Given the description of an element on the screen output the (x, y) to click on. 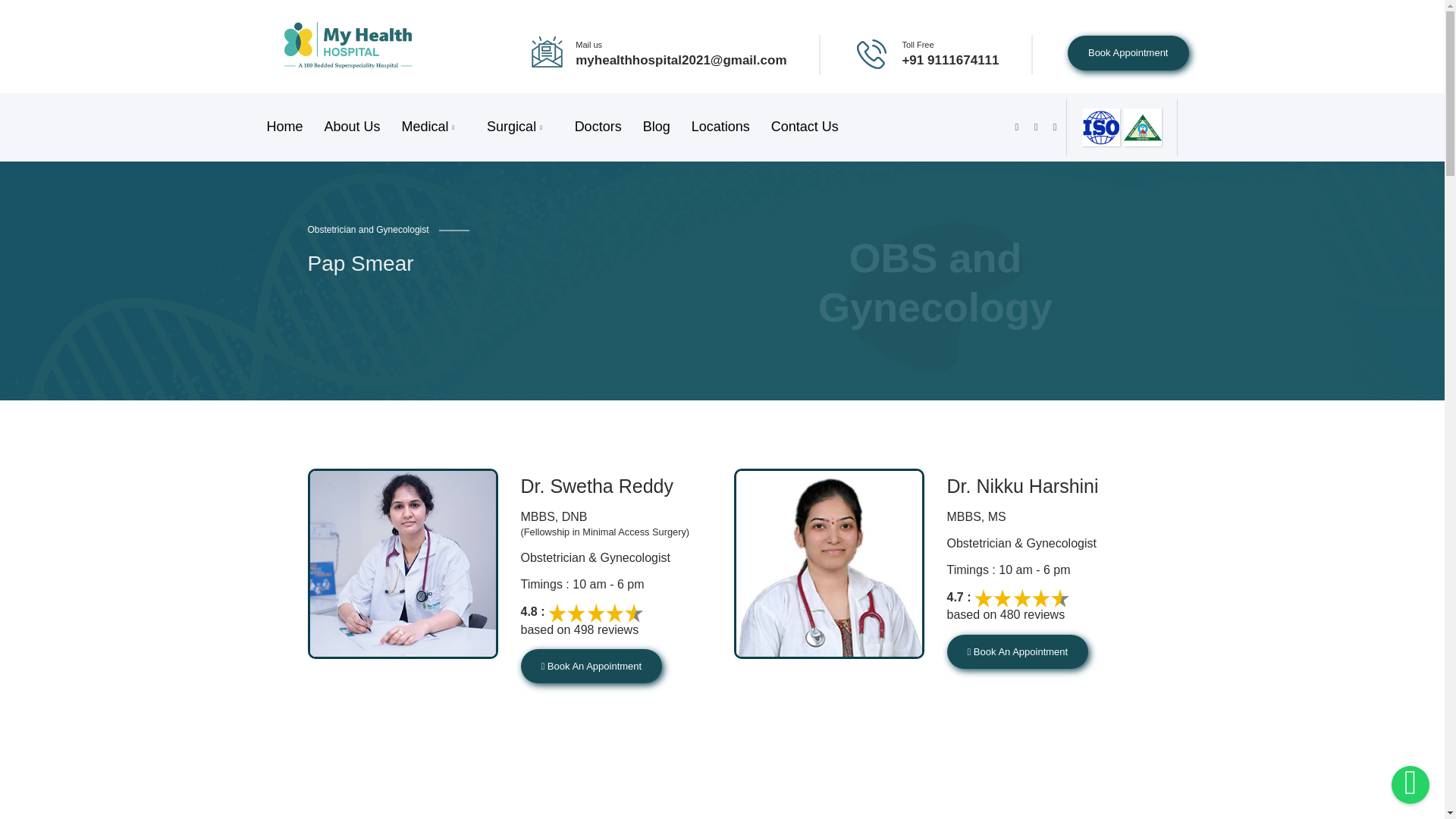
Doctors (597, 126)
Book An Appointment (1016, 651)
Contact Us (804, 126)
Book An Appointment (590, 666)
Blog (656, 126)
Surgical (520, 126)
Book Appointment (1128, 53)
About Us (352, 126)
Medical (434, 126)
Home (285, 126)
Locations (720, 126)
